Given the description of an element on the screen output the (x, y) to click on. 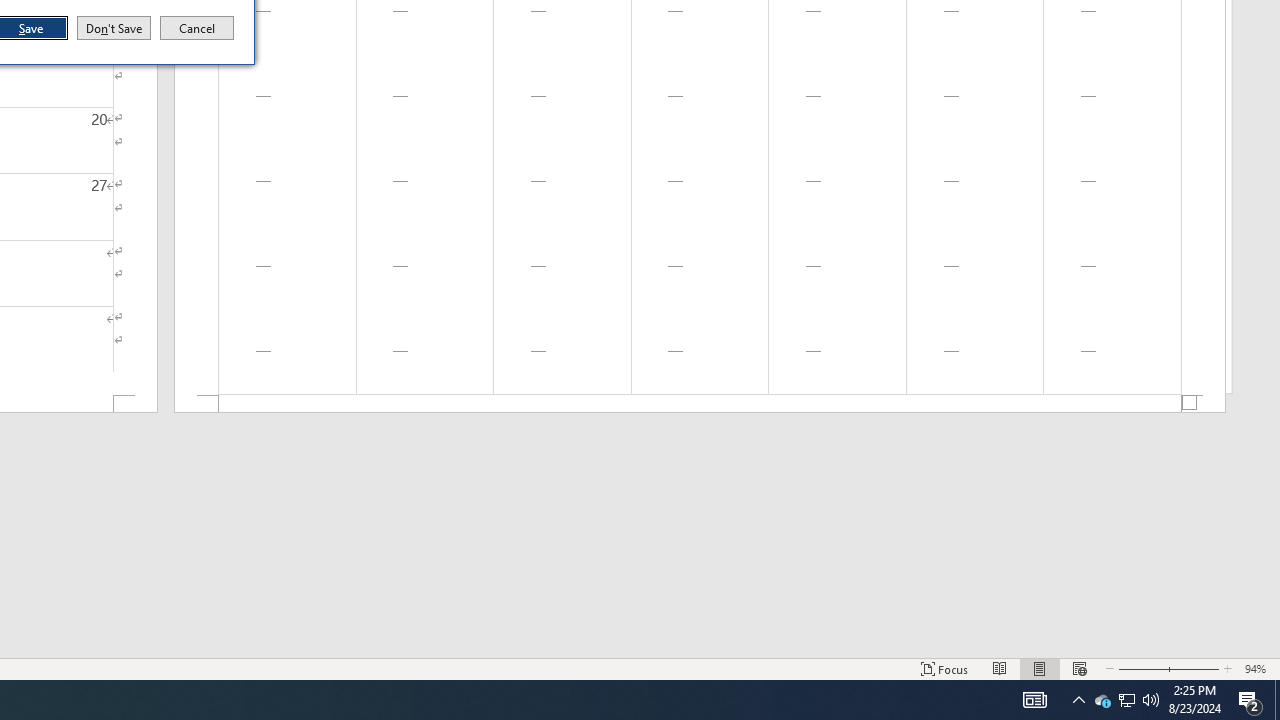
Print Layout (1039, 668)
Read Mode (1102, 699)
Notification Chevron (1000, 668)
Zoom Out (1078, 699)
Cancel (1140, 668)
Footer -Section 1- (1126, 699)
Don't Save (197, 27)
Zoom In (700, 404)
Show desktop (113, 27)
AutomationID: 4105 (1193, 668)
